Given the description of an element on the screen output the (x, y) to click on. 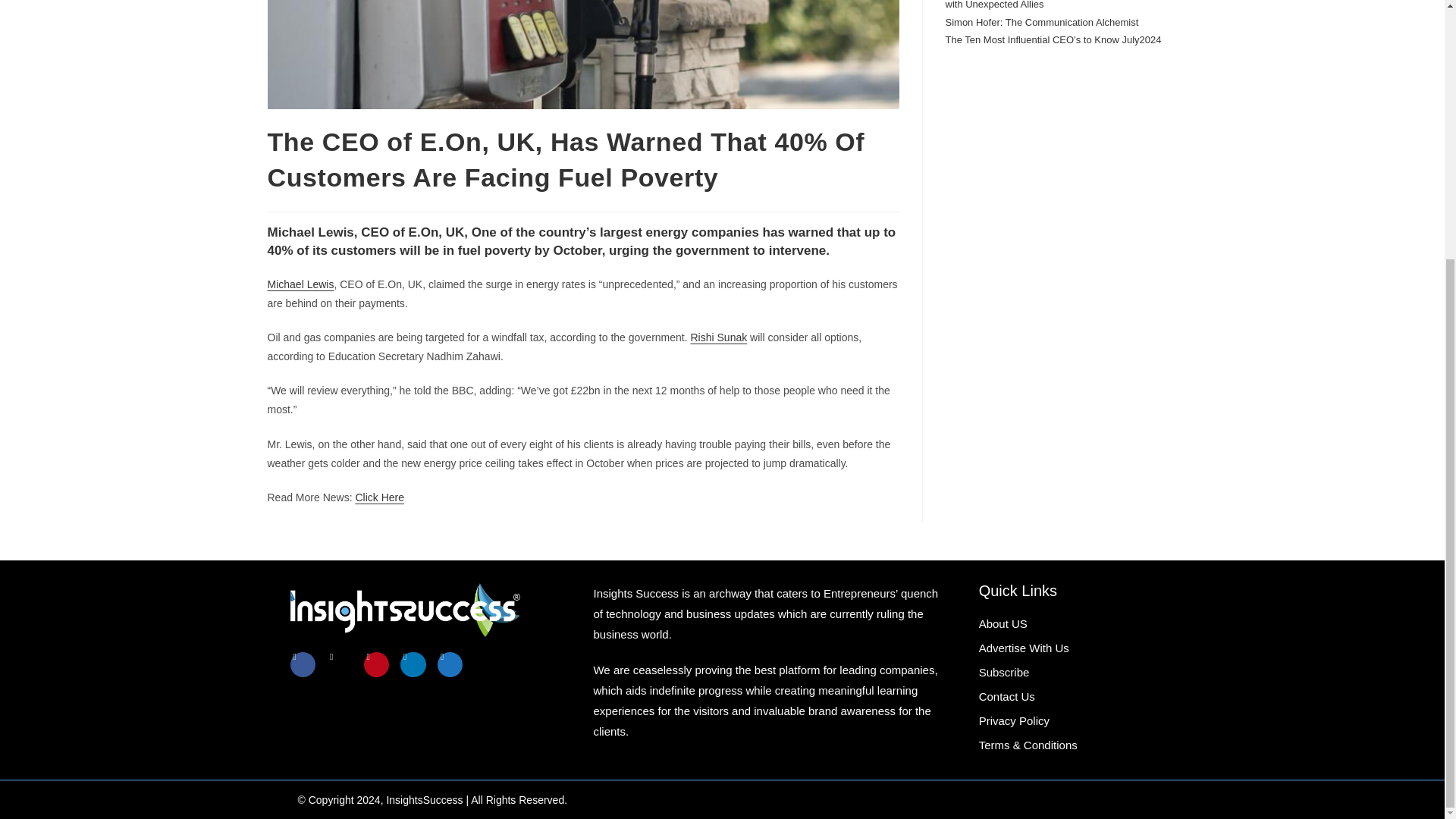
Simon Hofer: The Communication Alchemist (1041, 21)
Rishi Sunak (718, 337)
Michael Lewis (299, 284)
Click Here (379, 497)
